Given the description of an element on the screen output the (x, y) to click on. 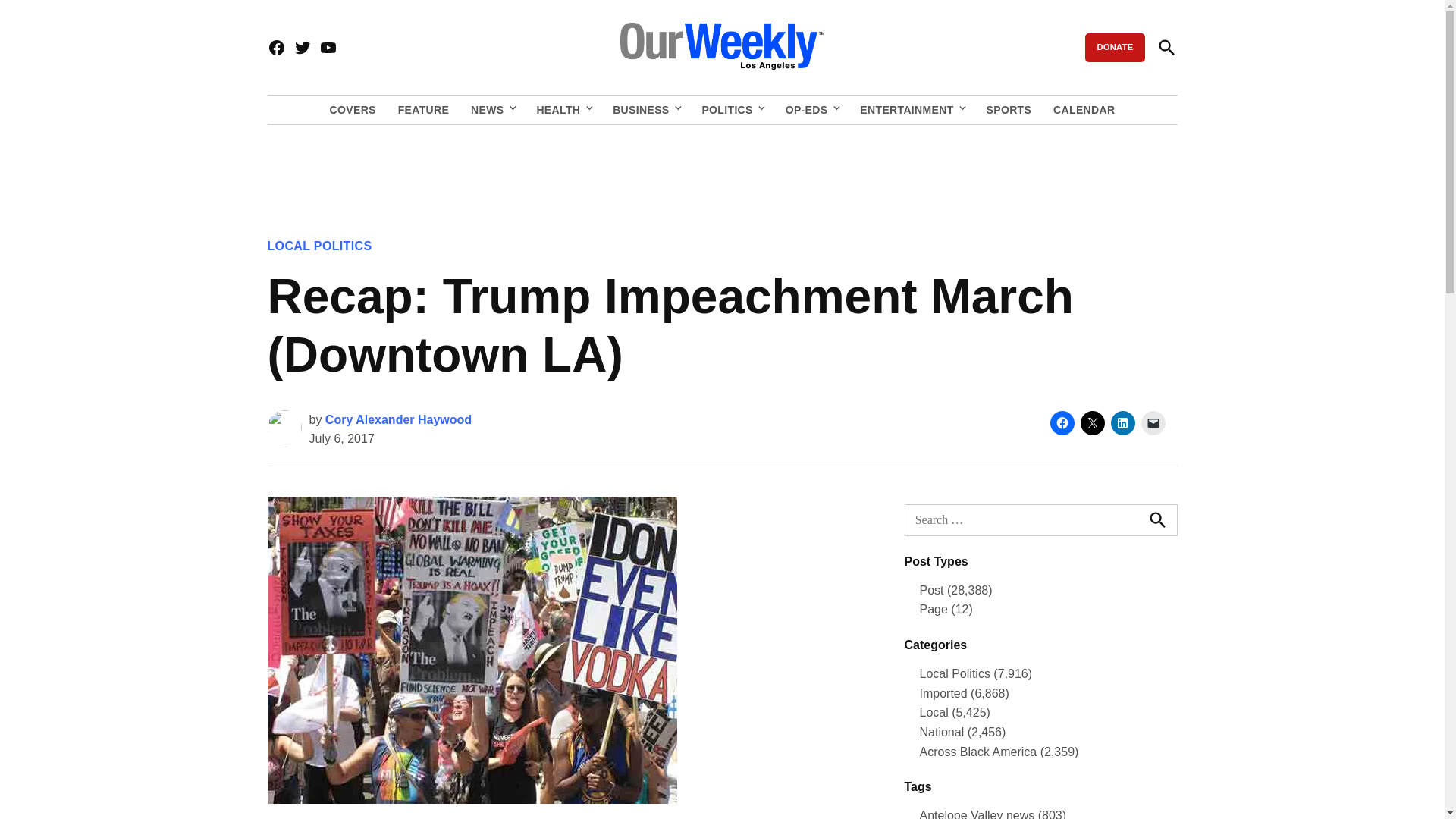
Click to email a link to a friend (1152, 422)
Click to share on Facebook (1061, 422)
3rd party ad content (721, 171)
Click to share on X (1091, 422)
Click to share on LinkedIn (1121, 422)
